Given the description of an element on the screen output the (x, y) to click on. 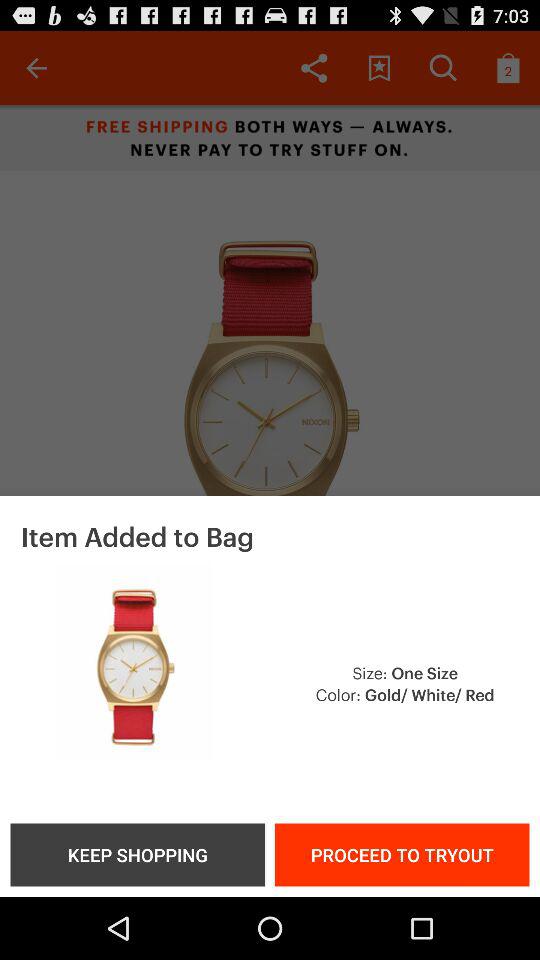
launch the keep shopping (137, 854)
